Given the description of an element on the screen output the (x, y) to click on. 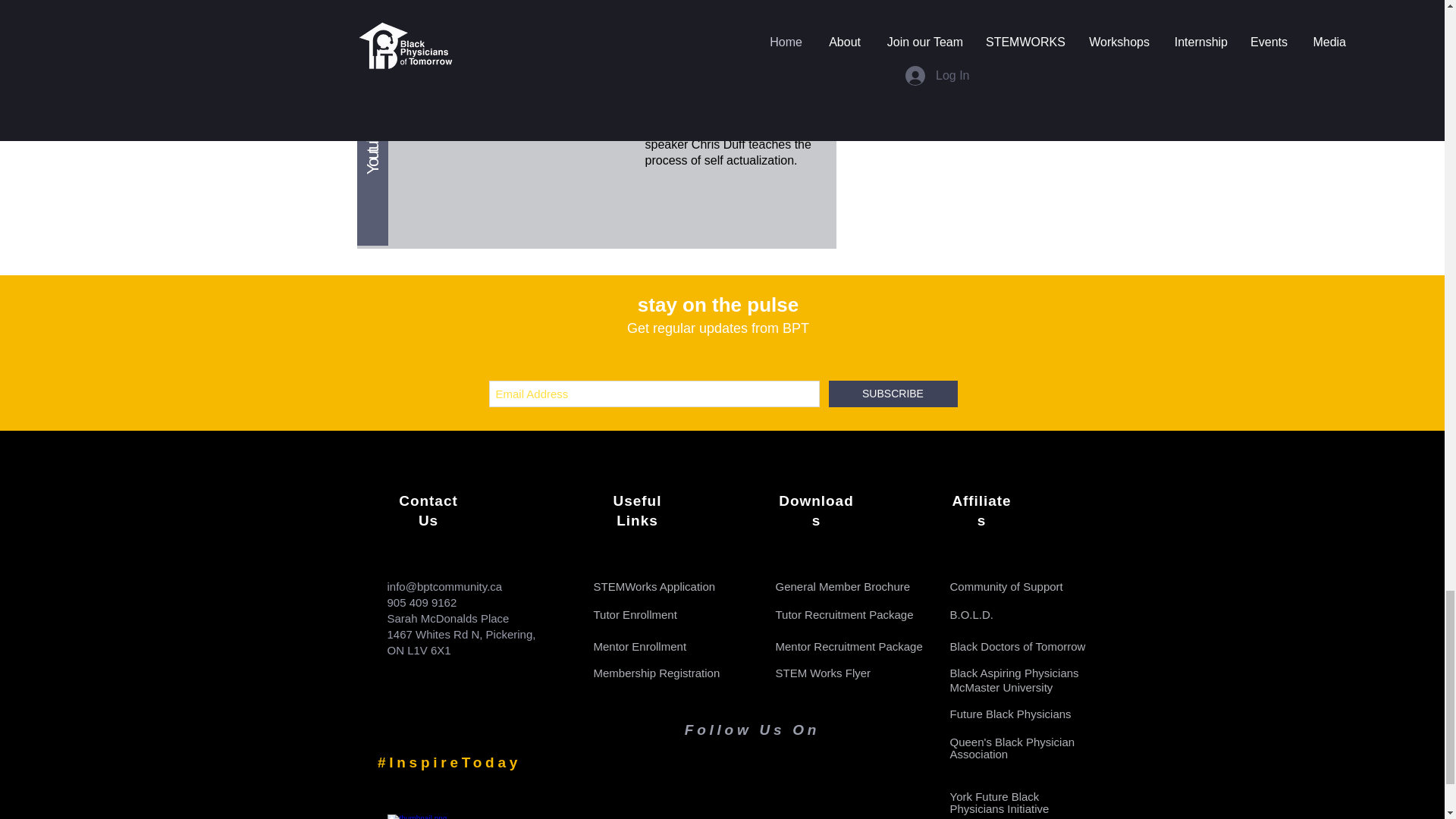
Tutor Enrollment (634, 614)
STEMWorks Application (653, 585)
SUBSCRIBE (892, 393)
Membership Registration (655, 672)
B.O.L.D. (970, 614)
STEM Works Flyer (822, 672)
External YouTube (514, 154)
Mentor Enrollment (638, 645)
Mentor Recruitment Package (847, 645)
Tutor Recruitment Package (843, 614)
